Given the description of an element on the screen output the (x, y) to click on. 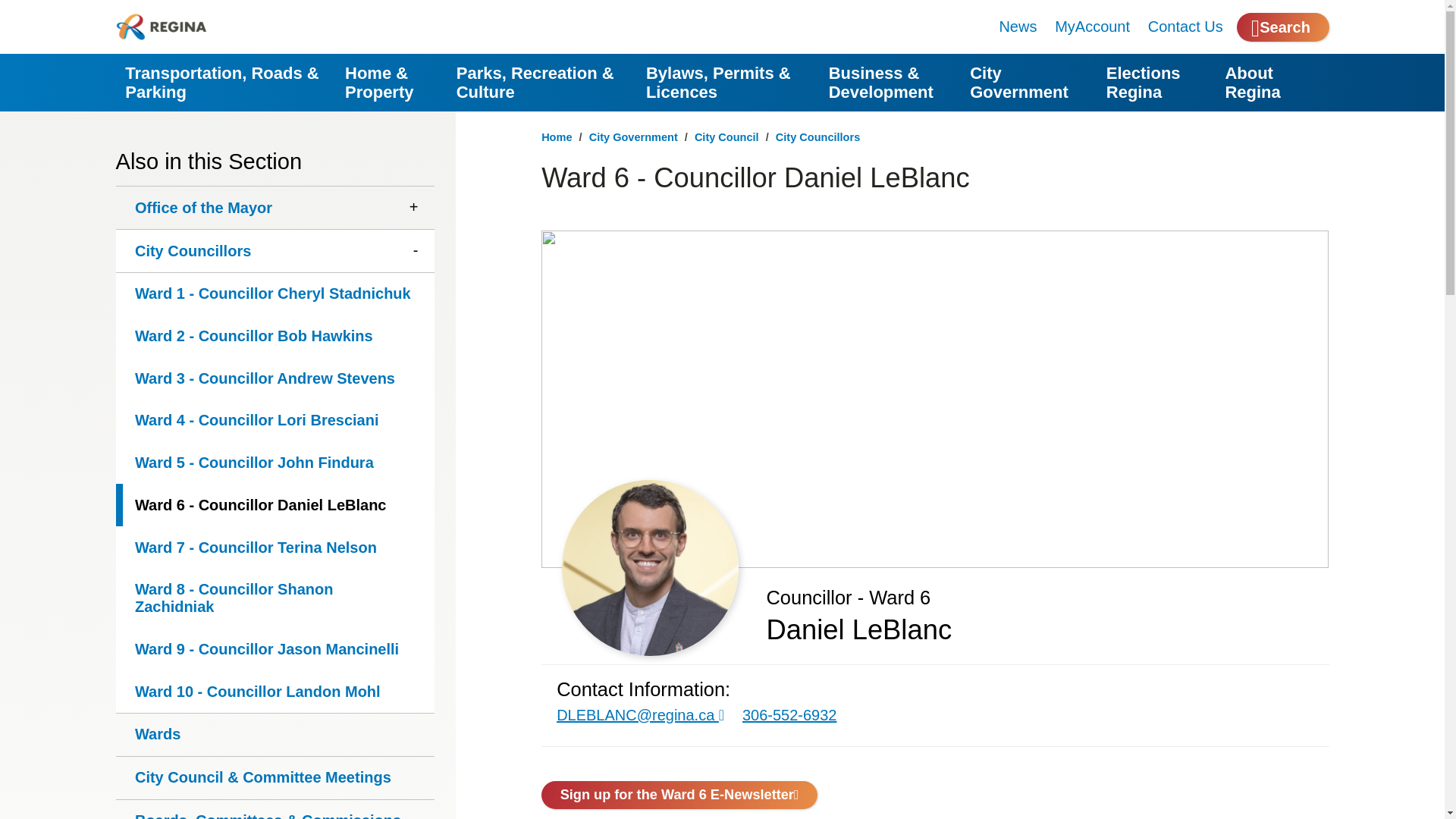
Ward 9 - Councillor Jason Mancinelli (274, 649)
Sign up for the Ward 6 E-Newsletter (678, 794)
Elections Regina (1155, 82)
Ward 4 - Councillor Lori Bresciani (274, 420)
Ward 6 - Councillor Daniel LeBlanc (274, 505)
Ward 5 - Councillor John Findura (274, 463)
Ward 3 - Councillor Andrew Stevens (274, 378)
Office of the Mayor (274, 208)
News (1017, 26)
Ward 8 - Councillor Shanon Zachidniak (274, 598)
City Councillors (818, 137)
Search (1282, 27)
Home (556, 137)
Wards (274, 734)
About Regina (1272, 82)
